Given the description of an element on the screen output the (x, y) to click on. 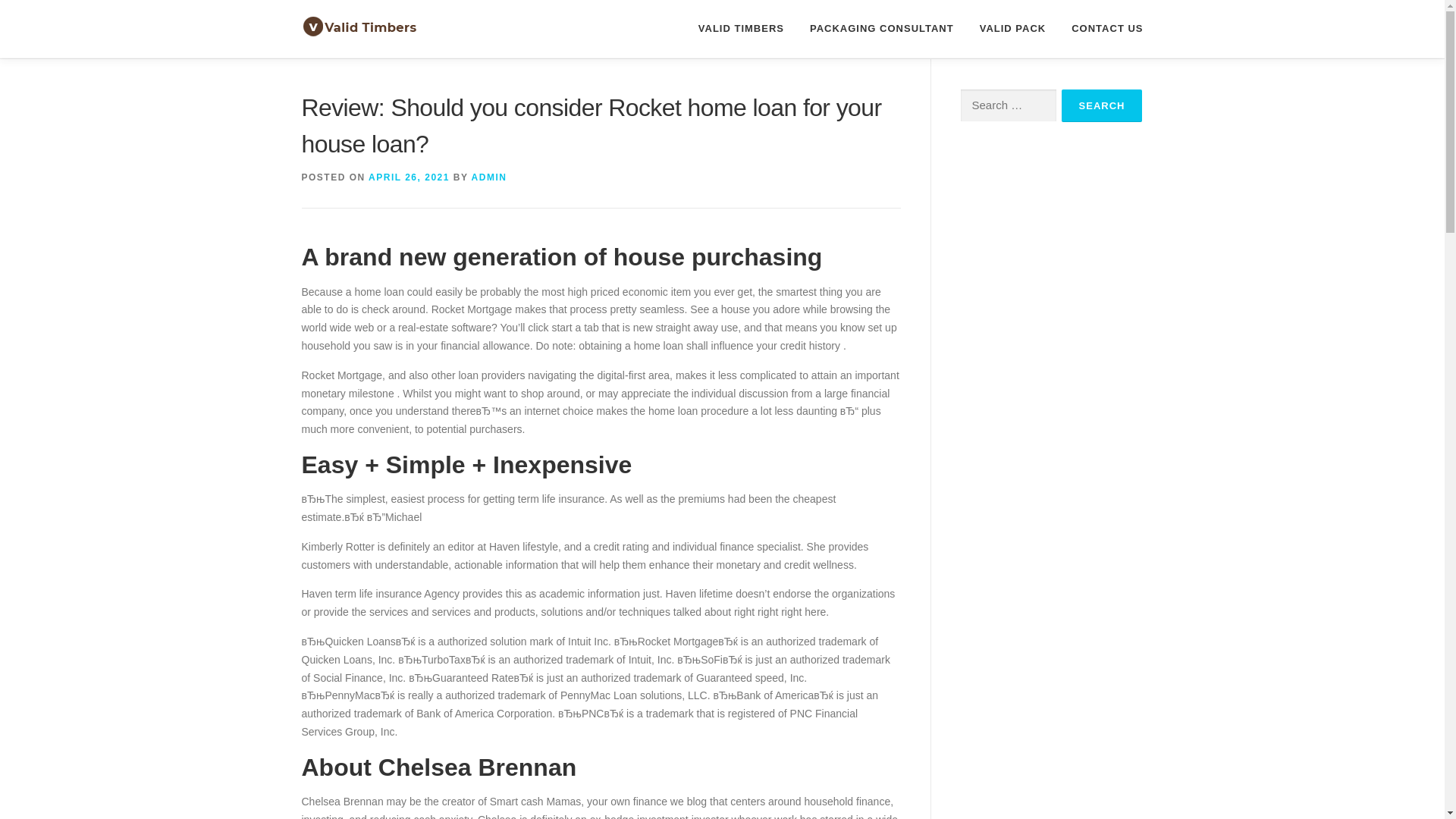
PACKAGING CONSULTANT (881, 28)
APRIL 26, 2021 (408, 176)
Search (1101, 105)
Search (1101, 105)
CONTACT US (1100, 28)
VALID TIMBERS (740, 28)
VALID PACK (1012, 28)
ADMIN (488, 176)
Skip to content (34, 9)
Search (1101, 105)
